Given the description of an element on the screen output the (x, y) to click on. 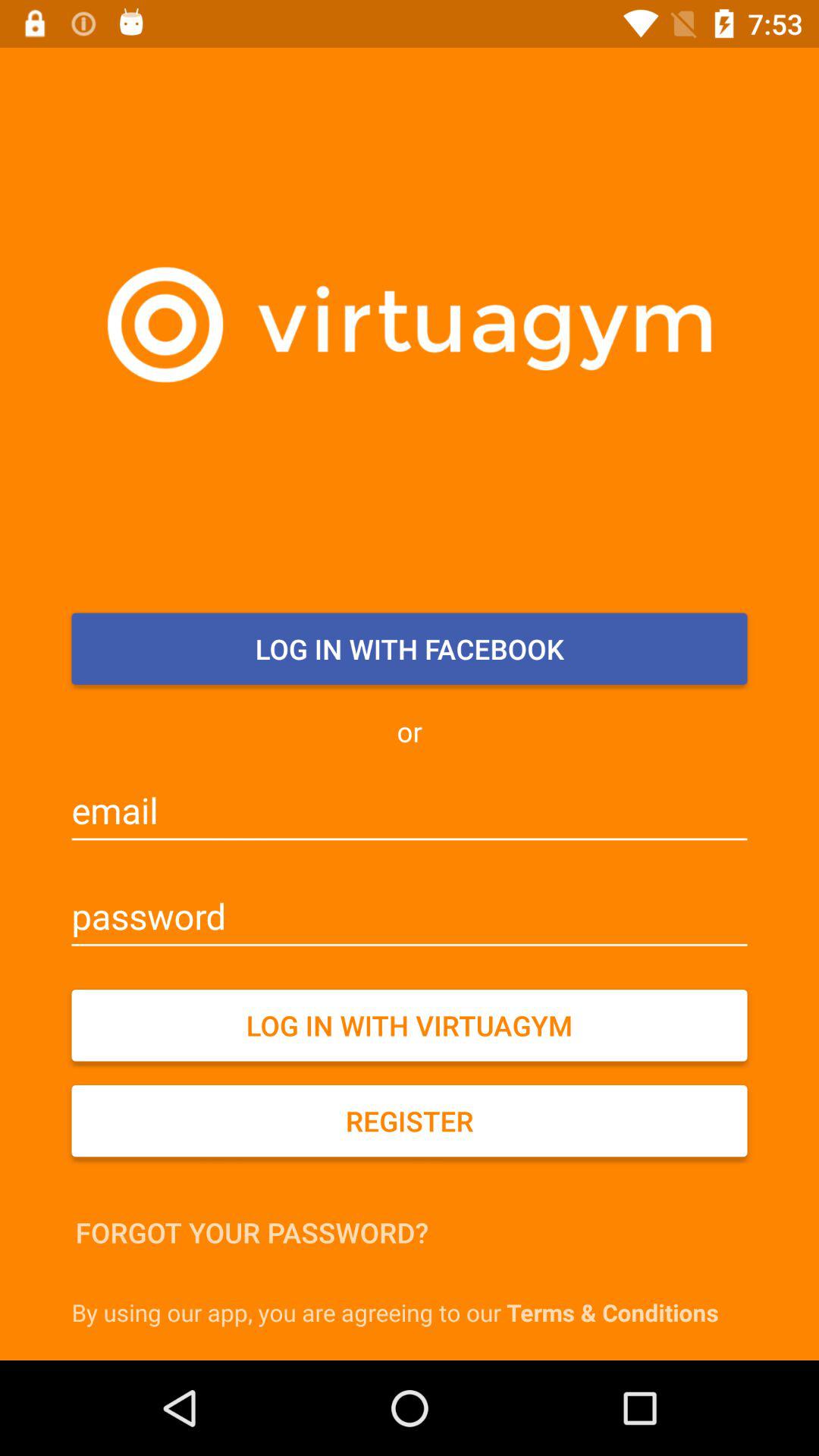
click the icon below the forgot your password? item (413, 1312)
